Given the description of an element on the screen output the (x, y) to click on. 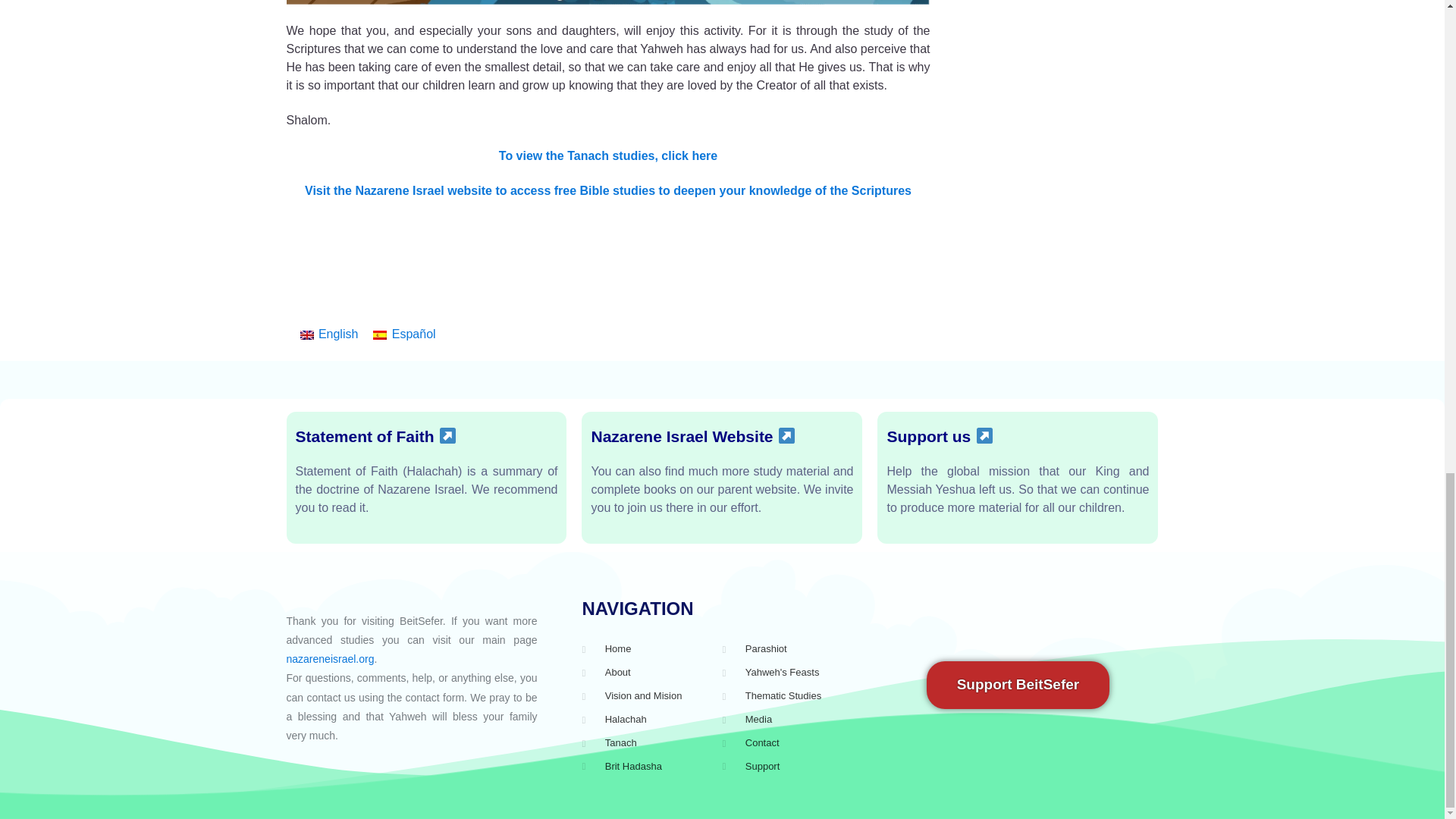
Scroll back to top (1406, 412)
